Given the description of an element on the screen output the (x, y) to click on. 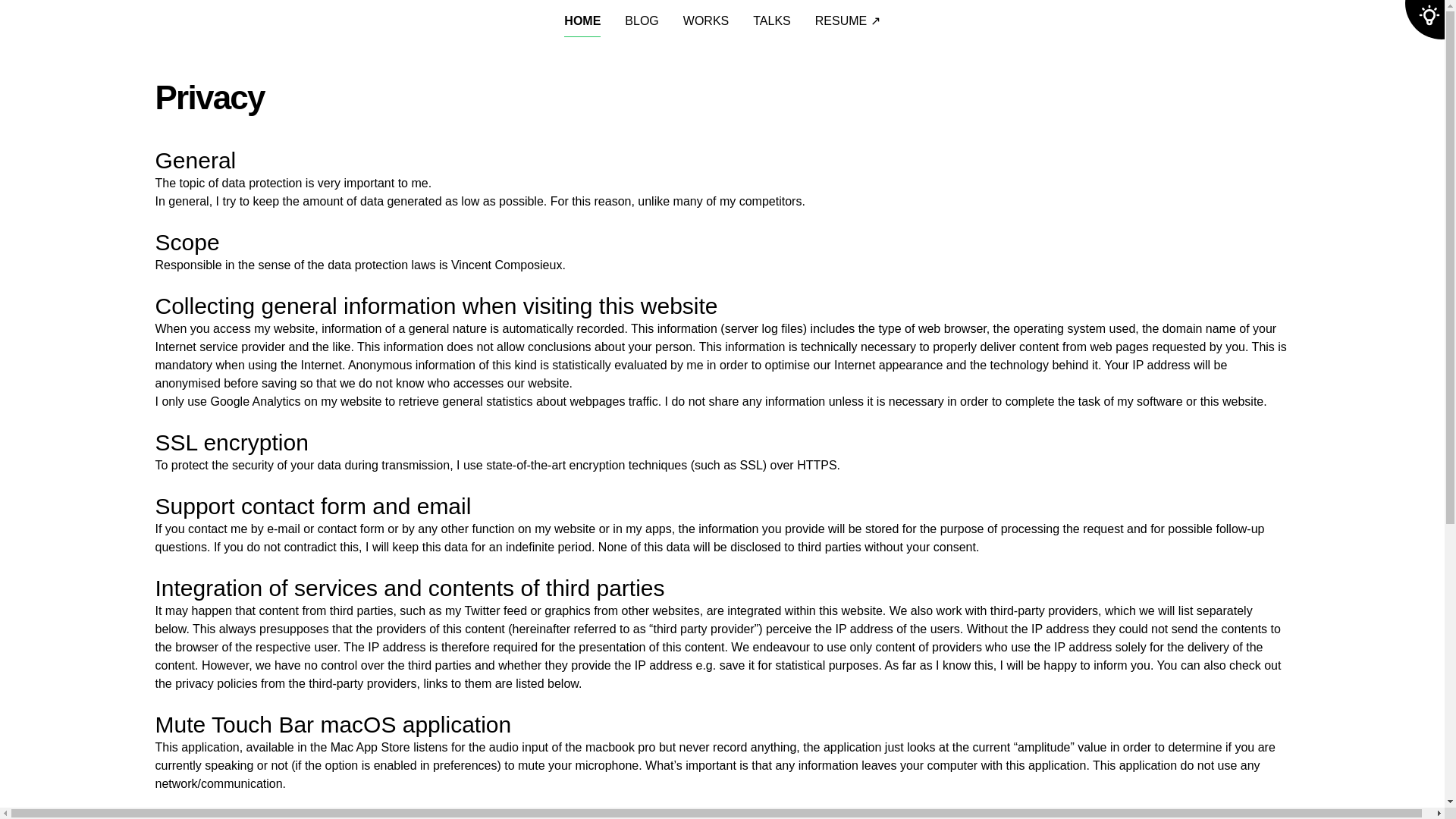
HOME (581, 20)
BLOG (641, 20)
WORKS (705, 20)
TALKS (771, 20)
